Given the description of an element on the screen output the (x, y) to click on. 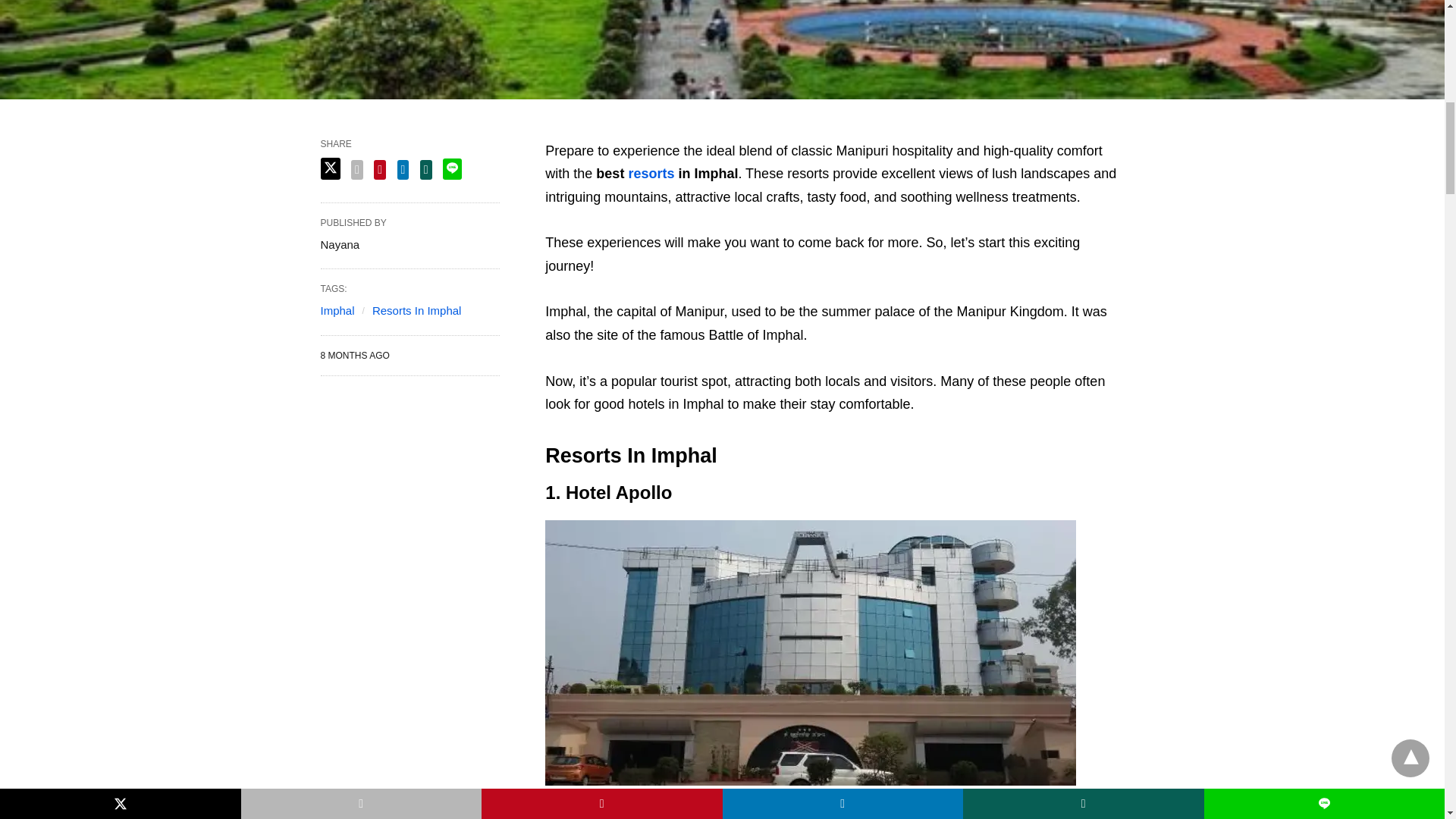
Imphal (336, 309)
resorts (652, 173)
Resorts In Imphal (416, 309)
line share (451, 168)
Imphal (336, 309)
Resorts In Imphal (416, 309)
